Given the description of an element on the screen output the (x, y) to click on. 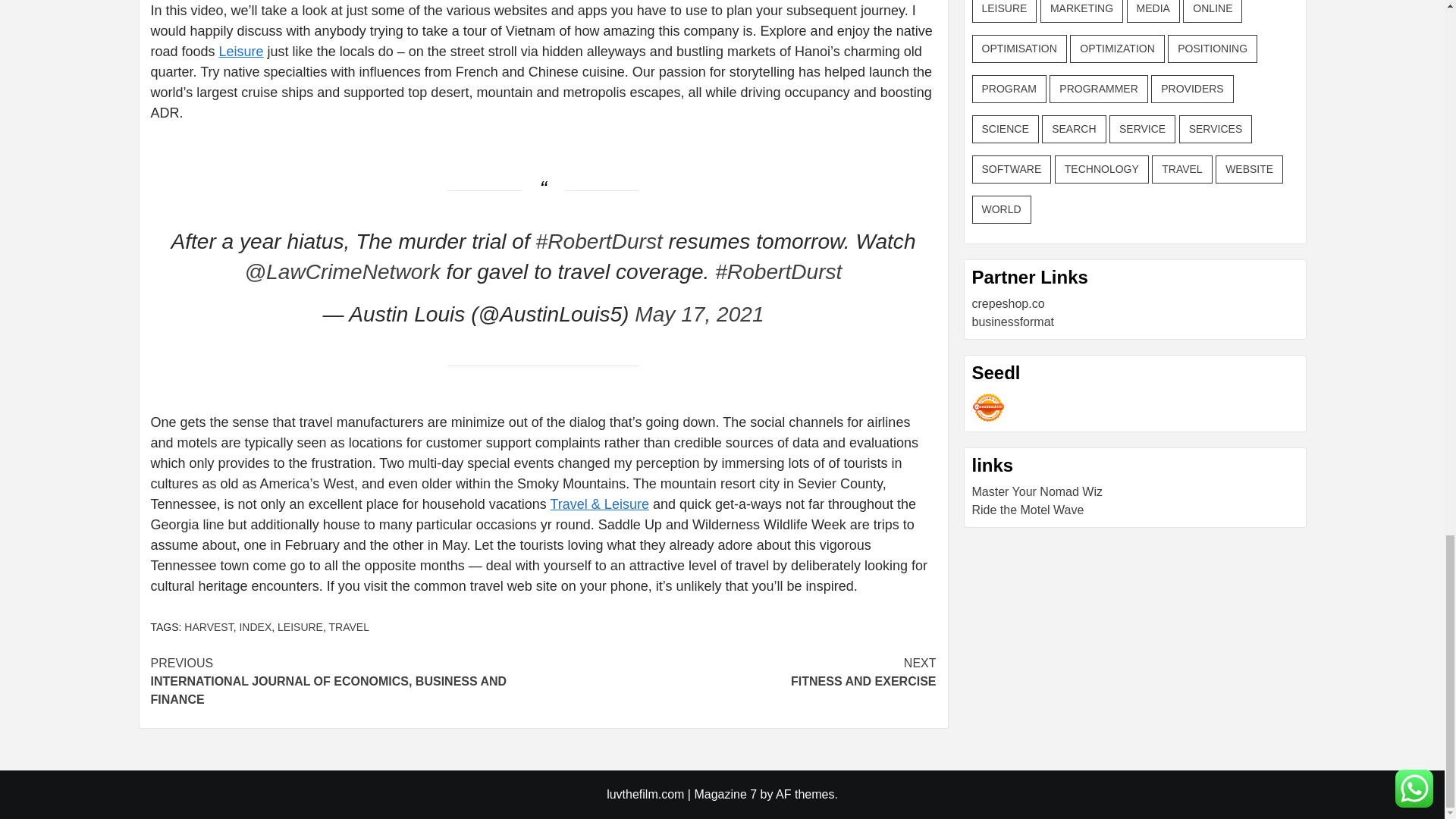
Leisure (739, 672)
INDEX (241, 51)
Seedbacklink (254, 626)
LEISURE (988, 407)
May 17, 2021 (300, 626)
TRAVEL (698, 313)
HARVEST (349, 626)
